Given the description of an element on the screen output the (x, y) to click on. 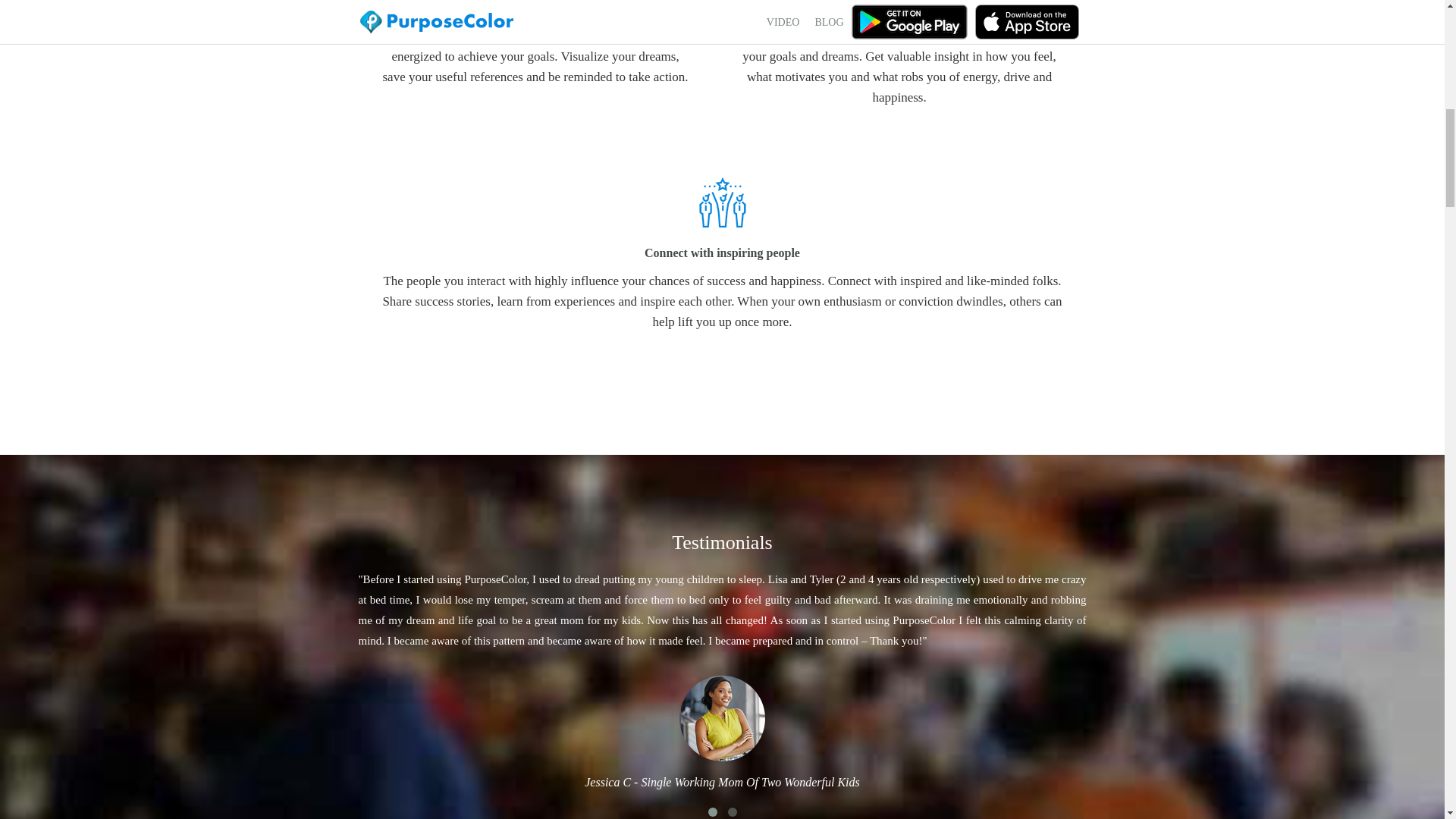
PurposeColor Self help App (722, 202)
Habit Tracker user jessica c (721, 718)
